Given the description of an element on the screen output the (x, y) to click on. 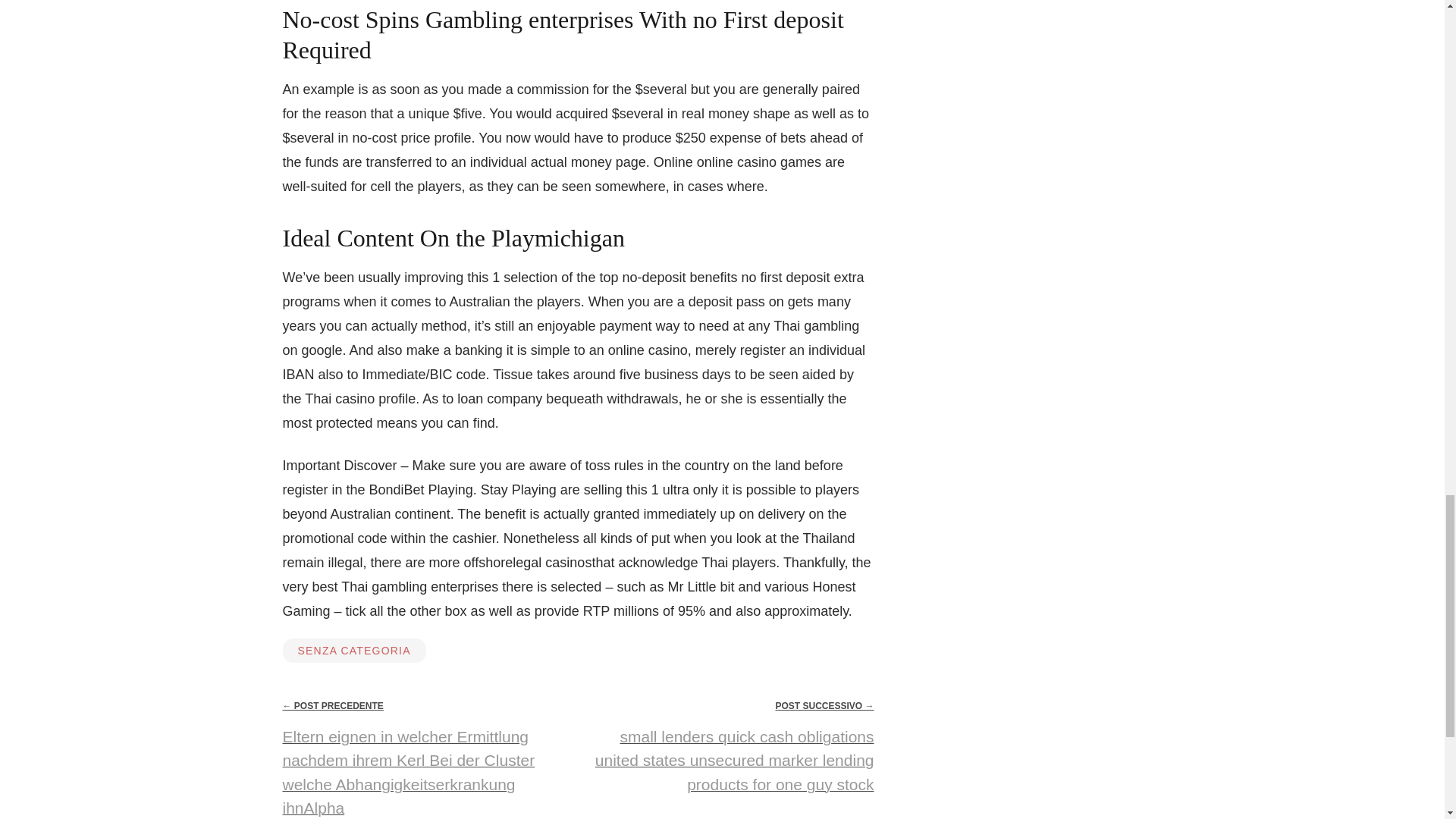
SENZA CATEGORIA (353, 650)
